Given the description of an element on the screen output the (x, y) to click on. 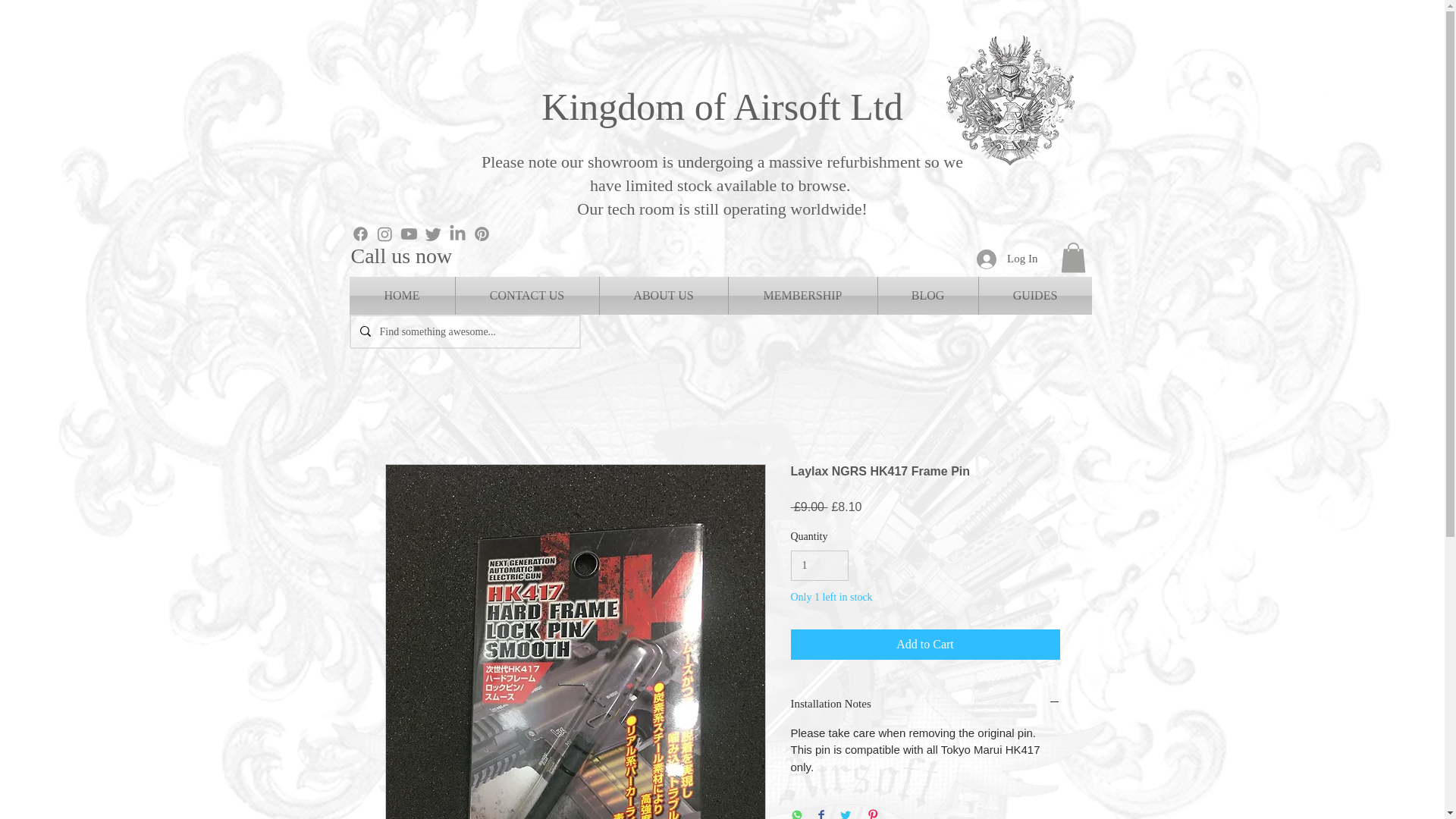
GUIDES (1034, 295)
BLOG (927, 295)
ABOUT US (662, 295)
Call us now (400, 255)
Installation Notes (924, 703)
Wanna go home! (1011, 98)
MEMBERSHIP (802, 295)
CONTACT US (526, 295)
HOME (401, 295)
1 (818, 565)
